Given the description of an element on the screen output the (x, y) to click on. 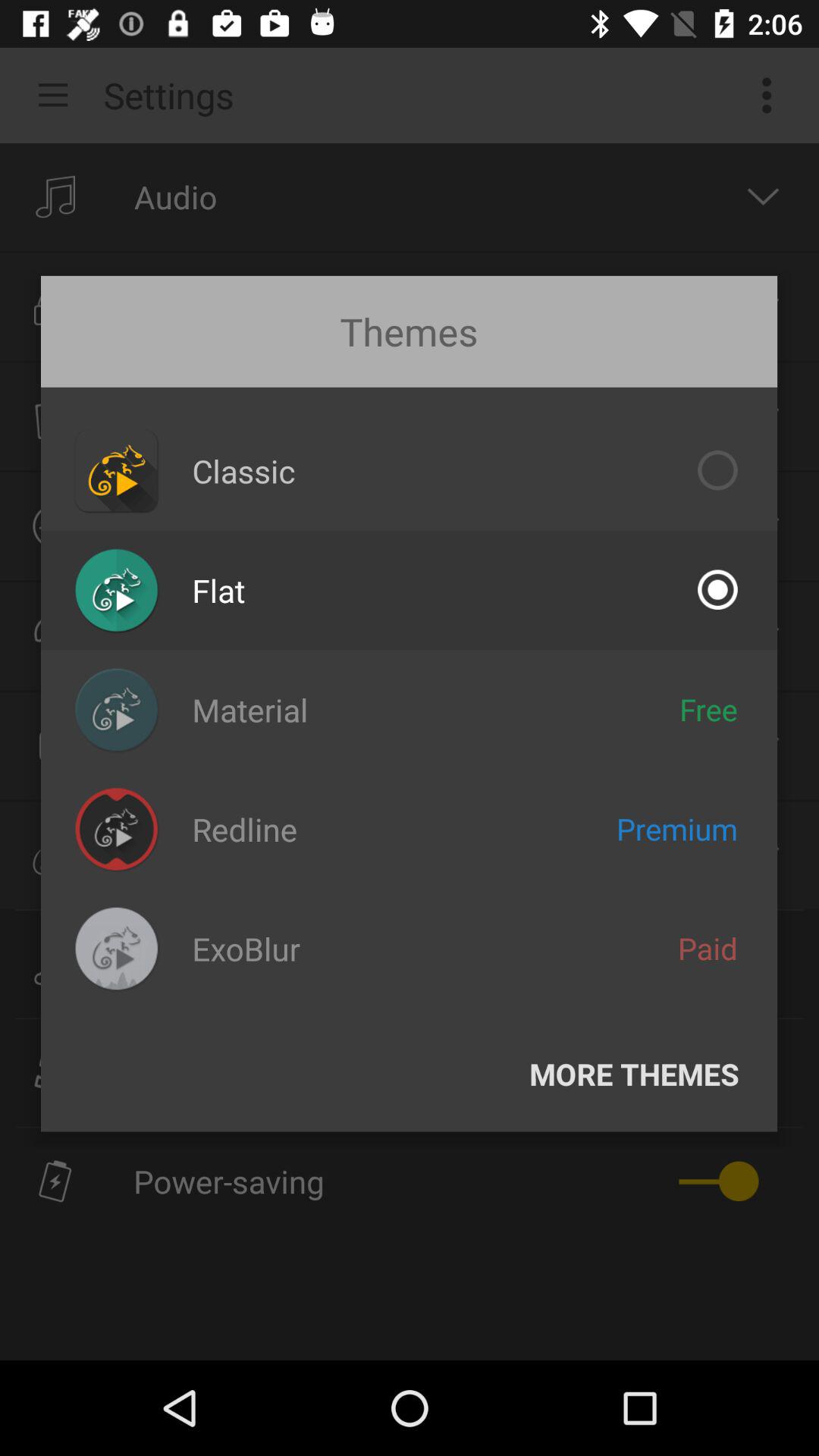
click icon above redline item (250, 709)
